Given the description of an element on the screen output the (x, y) to click on. 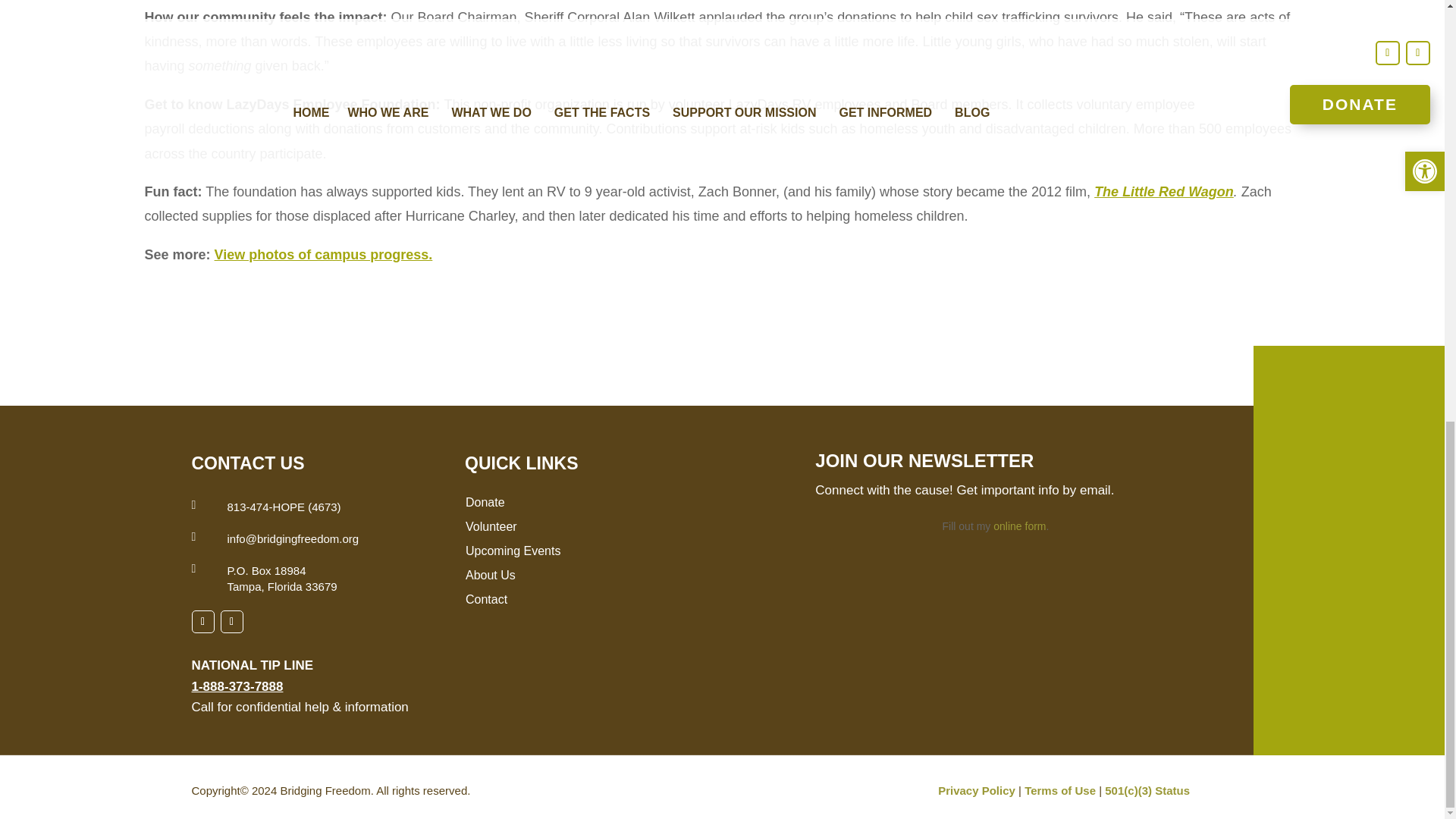
Follow on Instagram (231, 621)
Follow on Facebook (202, 621)
